Given the description of an element on the screen output the (x, y) to click on. 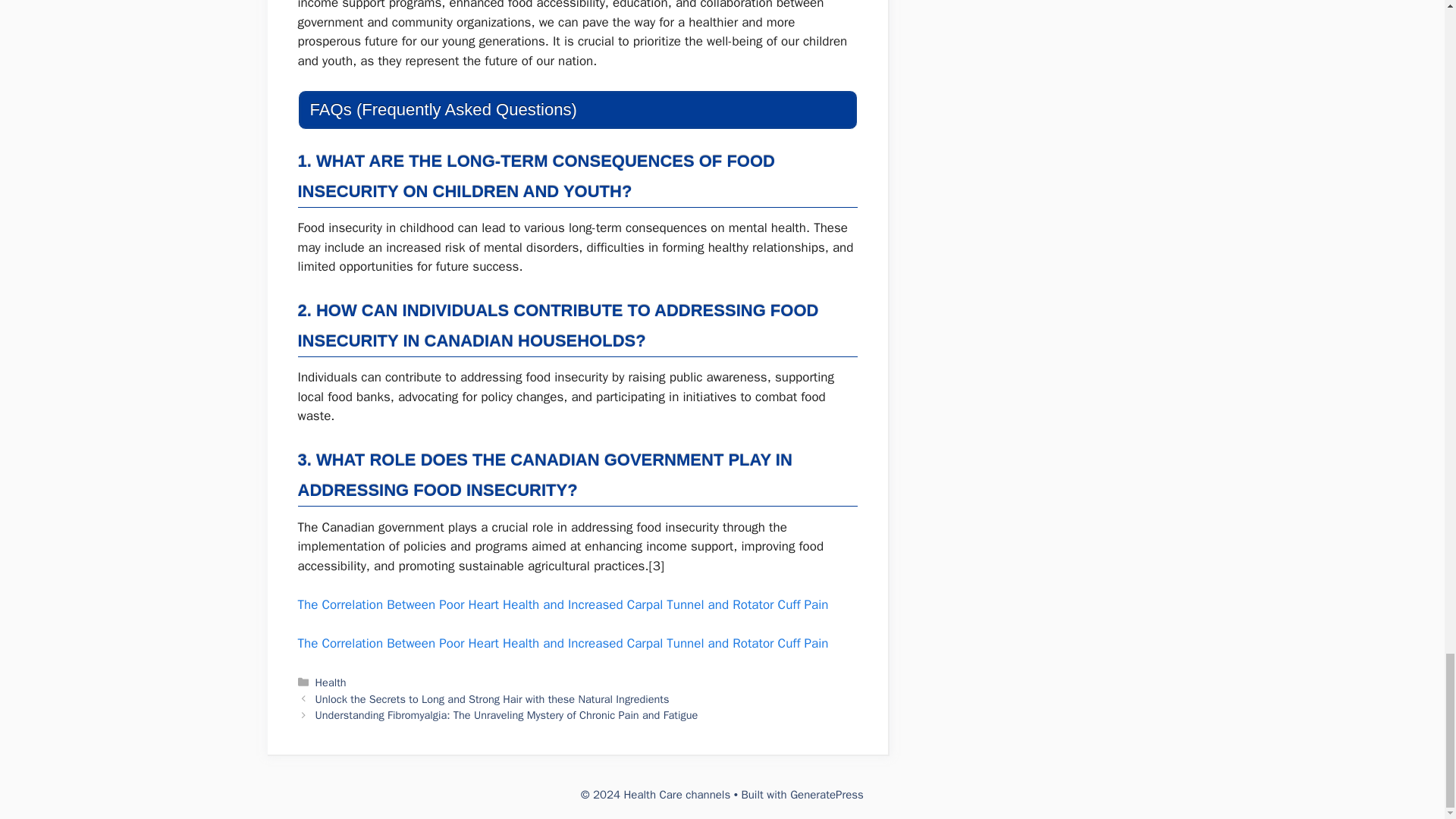
Health (330, 682)
